Given the description of an element on the screen output the (x, y) to click on. 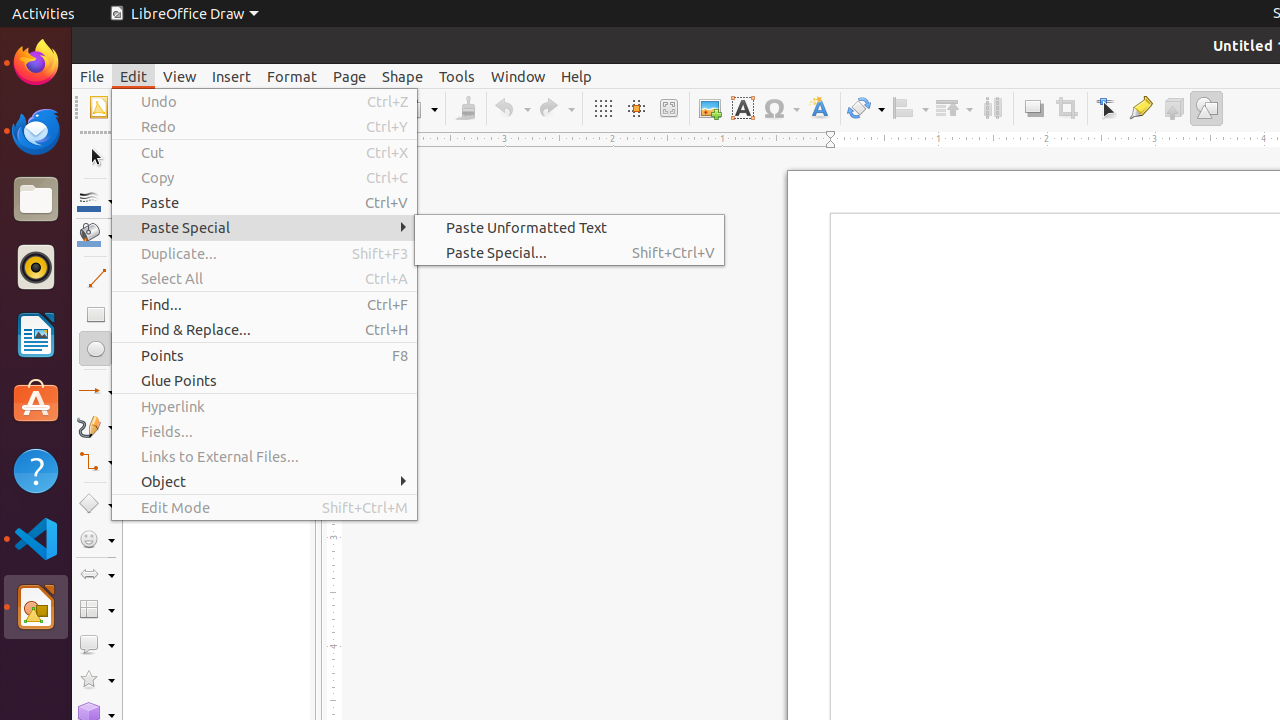
Visual Studio Code Element type: push-button (36, 538)
Edit Mode Element type: menu-item (264, 507)
Glue Points Element type: push-button (1140, 108)
Copy Element type: menu-item (264, 177)
Rhythmbox Element type: push-button (36, 267)
